Given the description of an element on the screen output the (x, y) to click on. 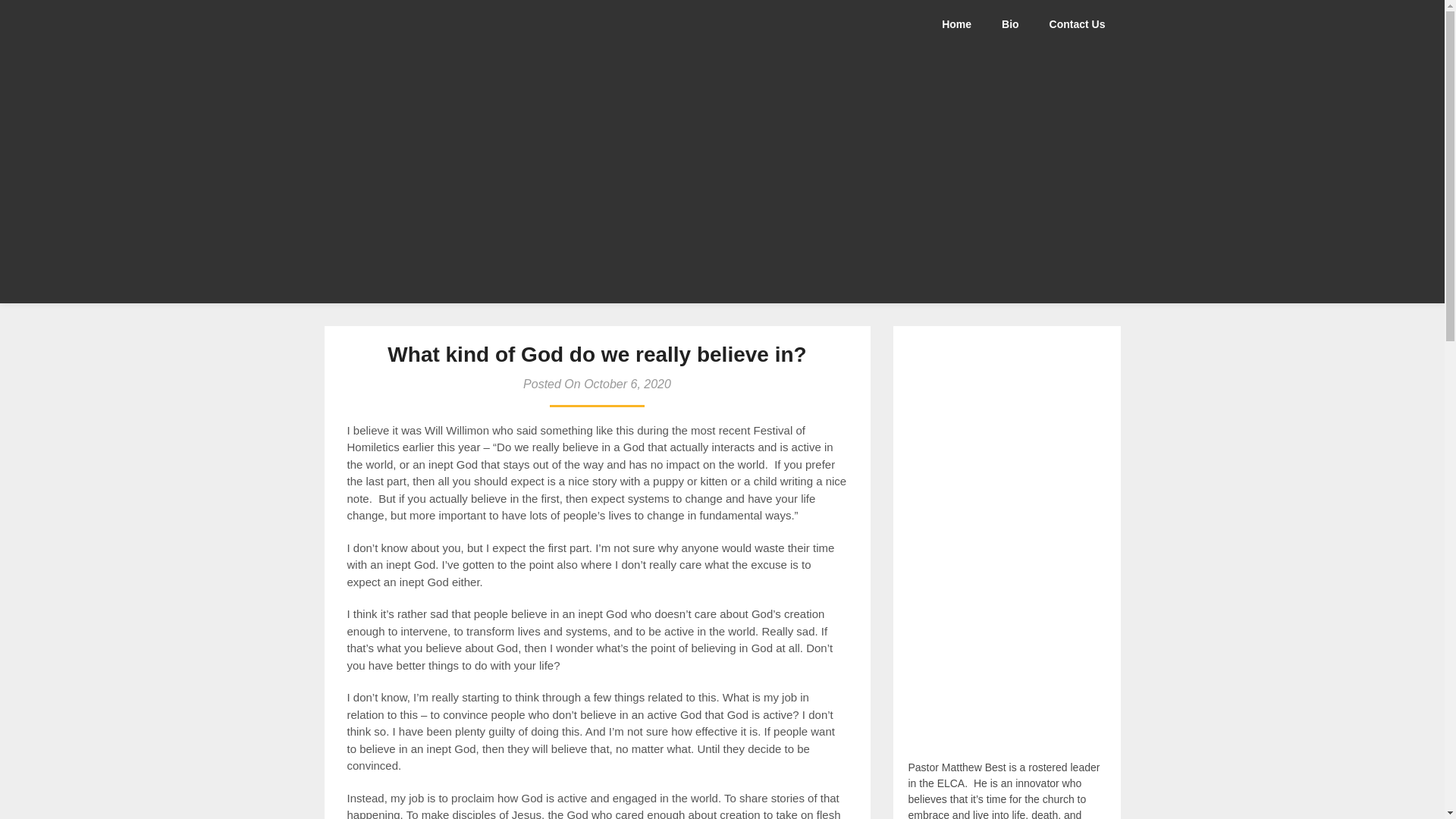
Bio (1010, 24)
Home (964, 24)
Contact Us (1077, 24)
